Given the description of an element on the screen output the (x, y) to click on. 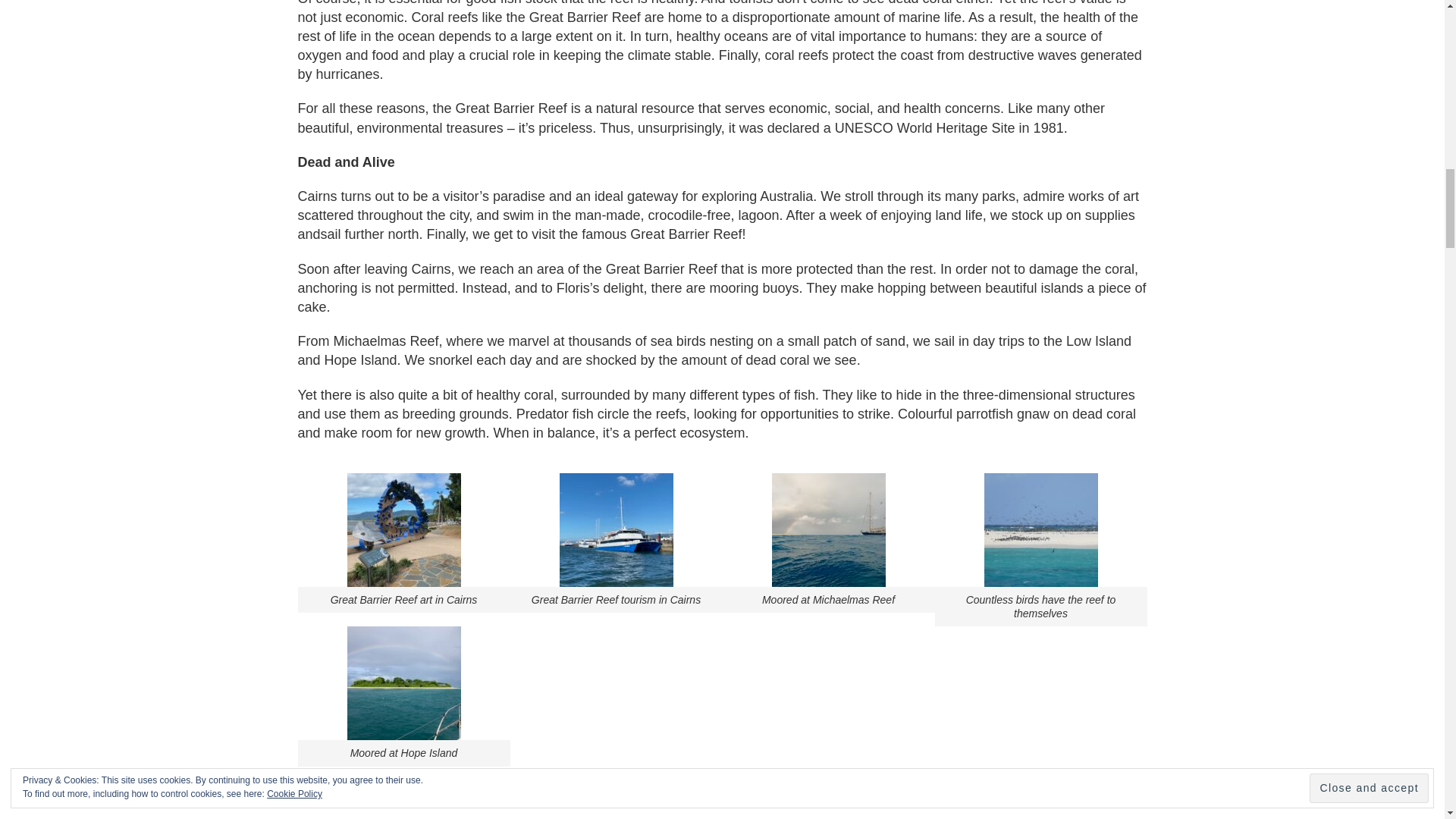
protect the coast (882, 55)
depends (465, 36)
UNESCO World Heritage Site (924, 127)
